Given the description of an element on the screen output the (x, y) to click on. 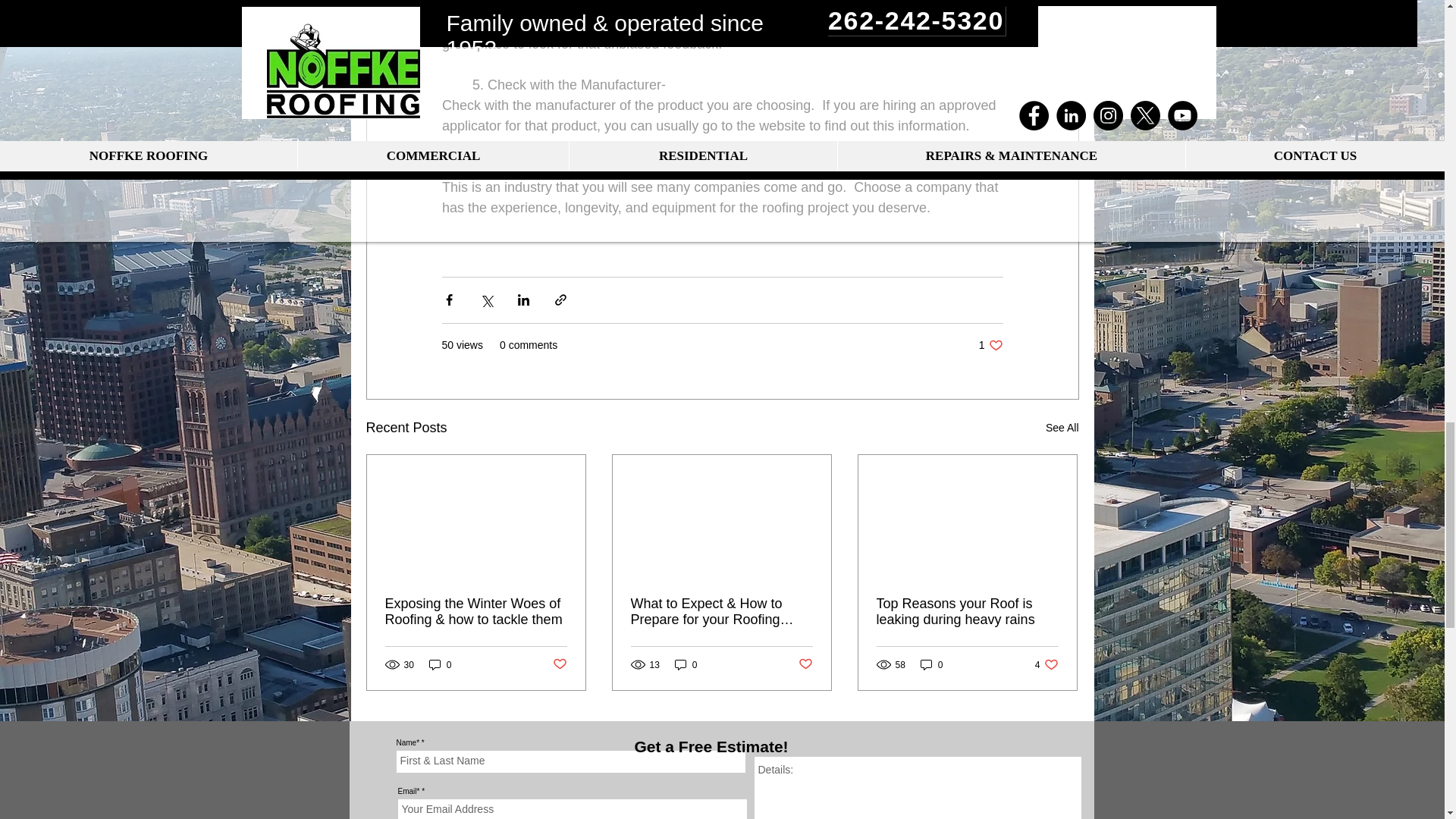
Post not marked as liked (558, 664)
0 (931, 664)
Post not marked as liked (804, 664)
Top Reasons your Roof is leaking during heavy rains (967, 612)
See All (990, 345)
0 (1061, 427)
0 (440, 664)
